Given the description of an element on the screen output the (x, y) to click on. 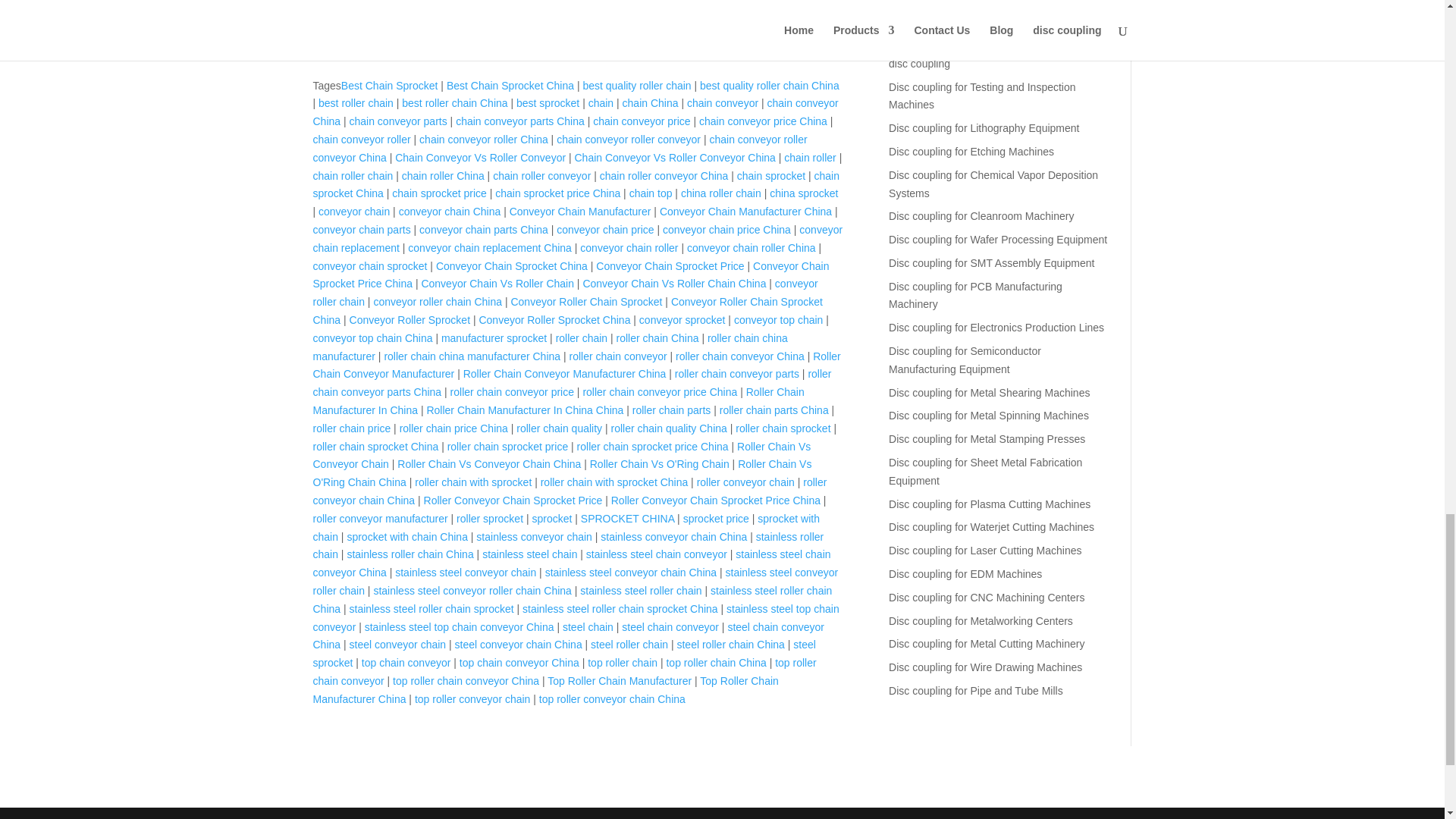
chain conveyor price China (762, 121)
chain conveyor roller China (483, 139)
best quality roller chain China (770, 85)
chain (600, 102)
Best Chain Sprocket China (509, 85)
best quality roller chain (636, 85)
chain conveyor roller (361, 139)
chain conveyor roller conveyor China (559, 148)
best sprocket (547, 102)
chain conveyor parts China (520, 121)
chain conveyor China (575, 112)
chain conveyor price (641, 121)
best roller chain China (453, 102)
Best Chain Sprocket (389, 85)
chain conveyor roller conveyor (628, 139)
